Given the description of an element on the screen output the (x, y) to click on. 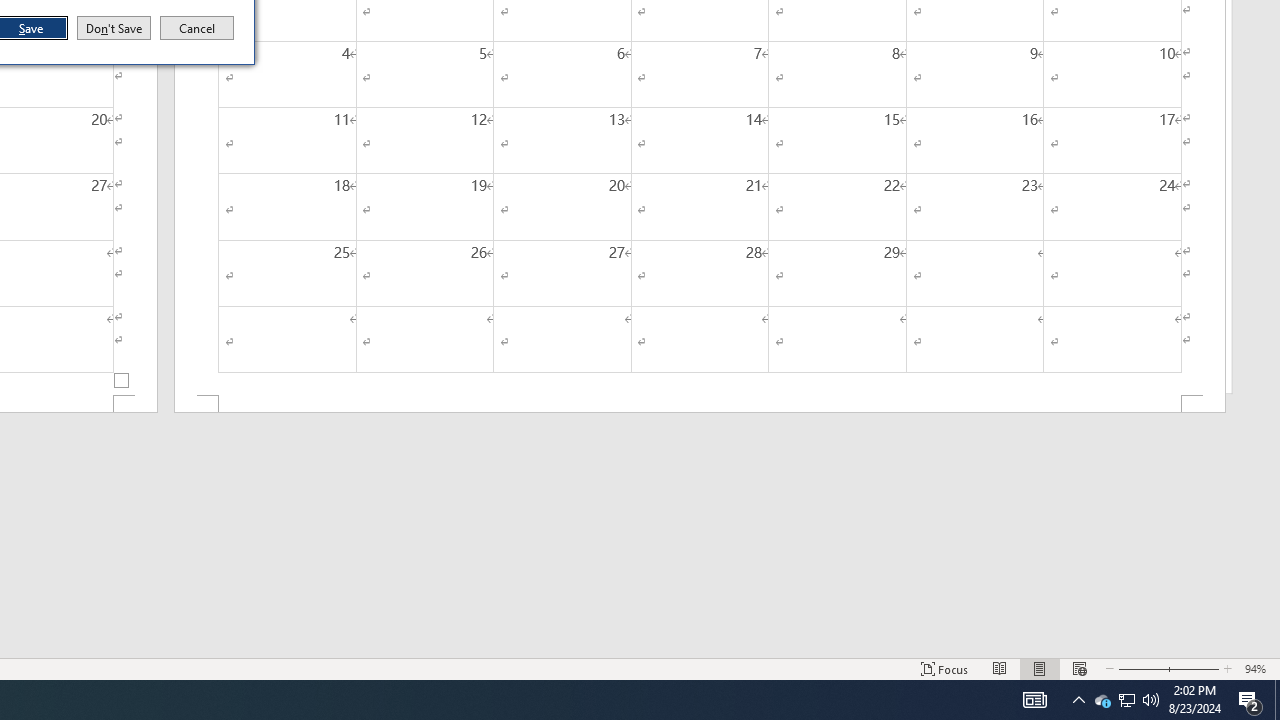
User Promoted Notification Area (1126, 699)
Don't Save (113, 27)
Q2790: 100% (1151, 699)
Cancel (197, 27)
Show desktop (1102, 699)
AutomationID: 4105 (1277, 699)
